Given the description of an element on the screen output the (x, y) to click on. 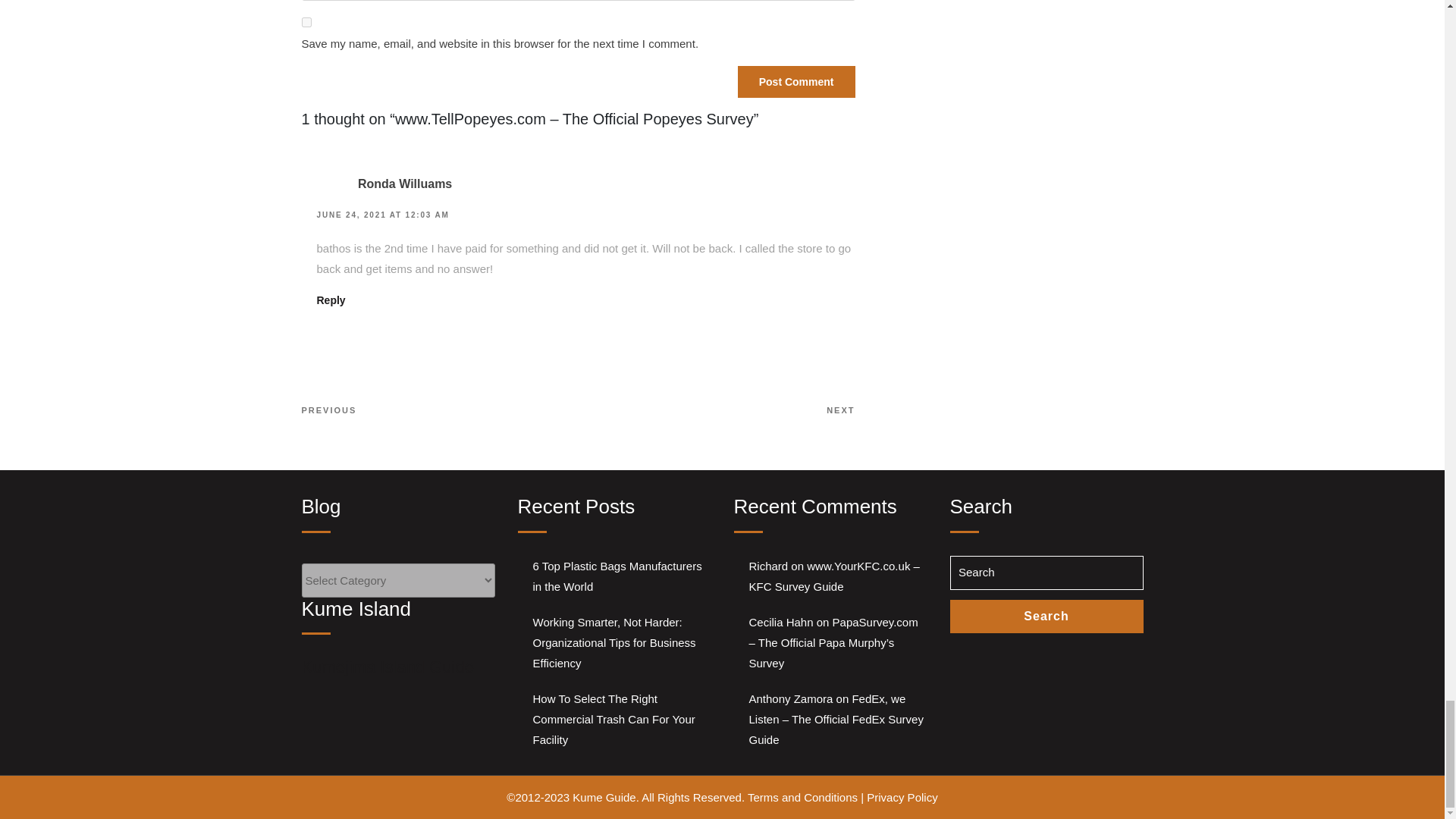
Post Comment (797, 81)
JUNE 24, 2021 AT 12:03 AM (383, 214)
yes (306, 22)
Post Comment (797, 81)
